Given the description of an element on the screen output the (x, y) to click on. 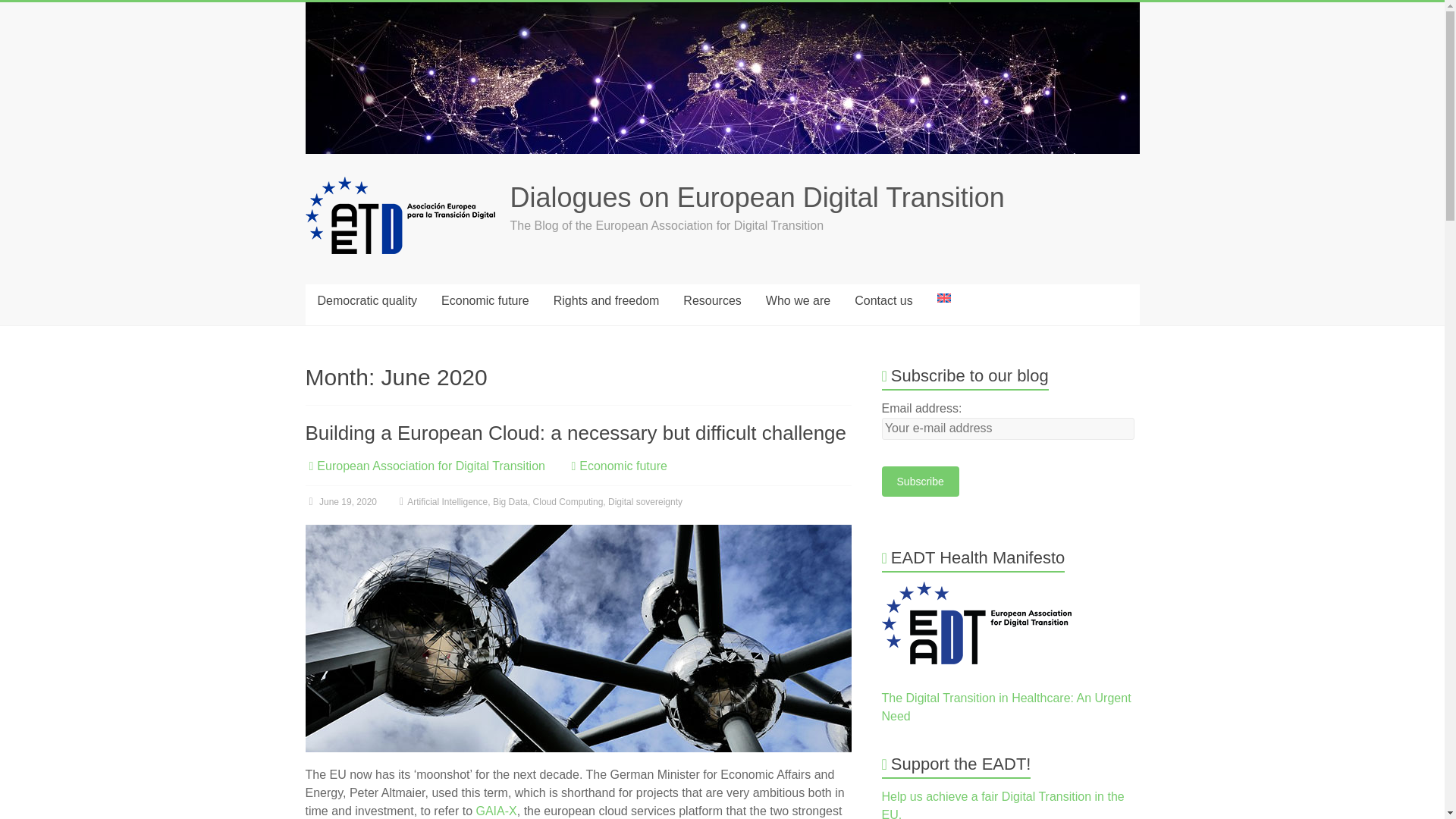
Dialogues on European Digital Transition (756, 196)
Artificial Intelligence (447, 501)
Cloud Computing (568, 501)
Who we are (798, 300)
Digital sovereignty (645, 501)
GAIA-X (496, 810)
3:04 pm (340, 501)
Economic future (622, 465)
Dialogues on European Digital Transition (756, 196)
Democratic quality (366, 300)
Resources (711, 300)
